Given the description of an element on the screen output the (x, y) to click on. 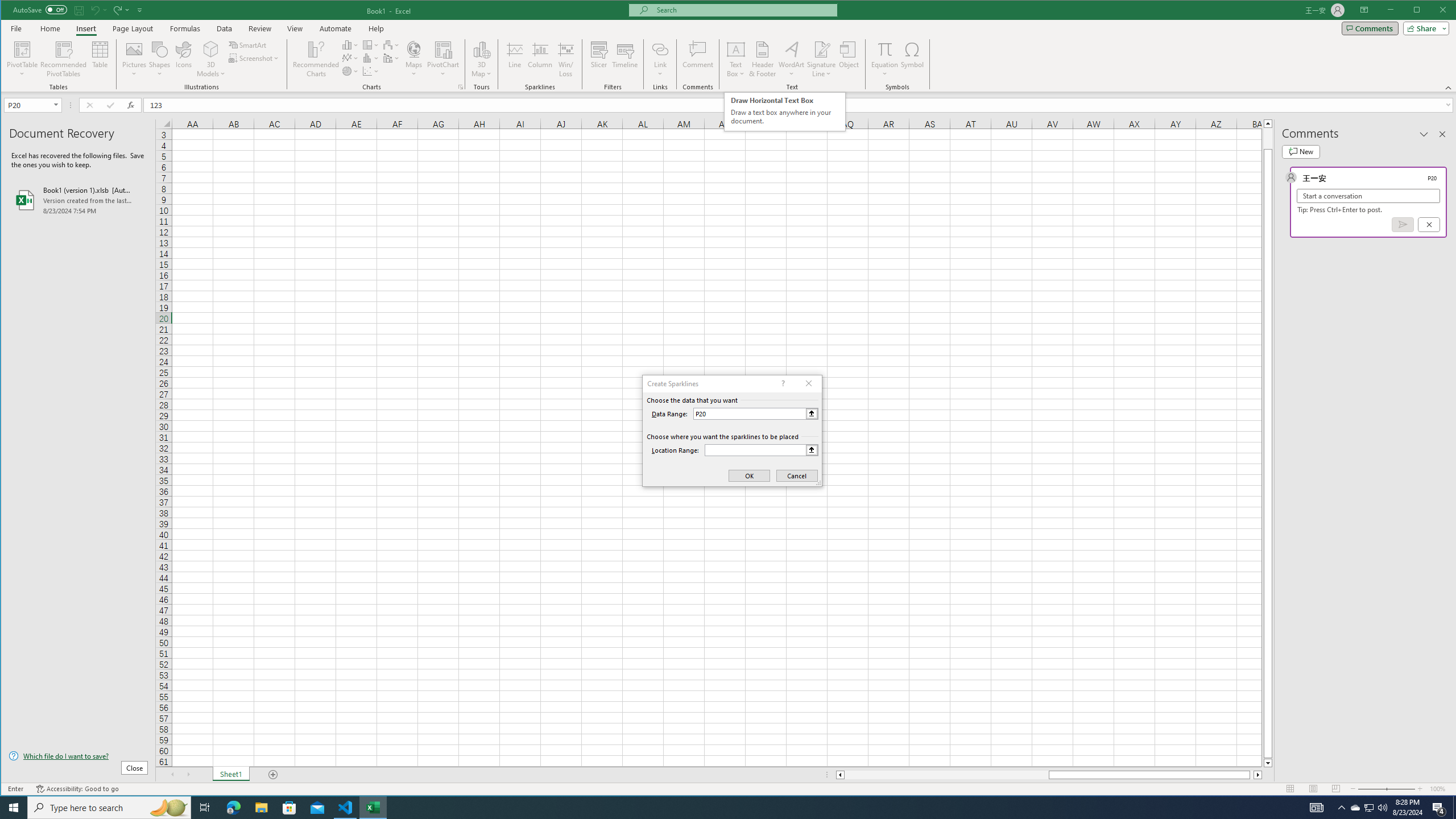
Task Pane Options (1423, 133)
Link (659, 59)
Header & Footer... (762, 59)
Comment (697, 59)
WordArt (791, 59)
3D Map (481, 48)
Start a conversation (1368, 195)
3D Models (211, 48)
